Given the description of an element on the screen output the (x, y) to click on. 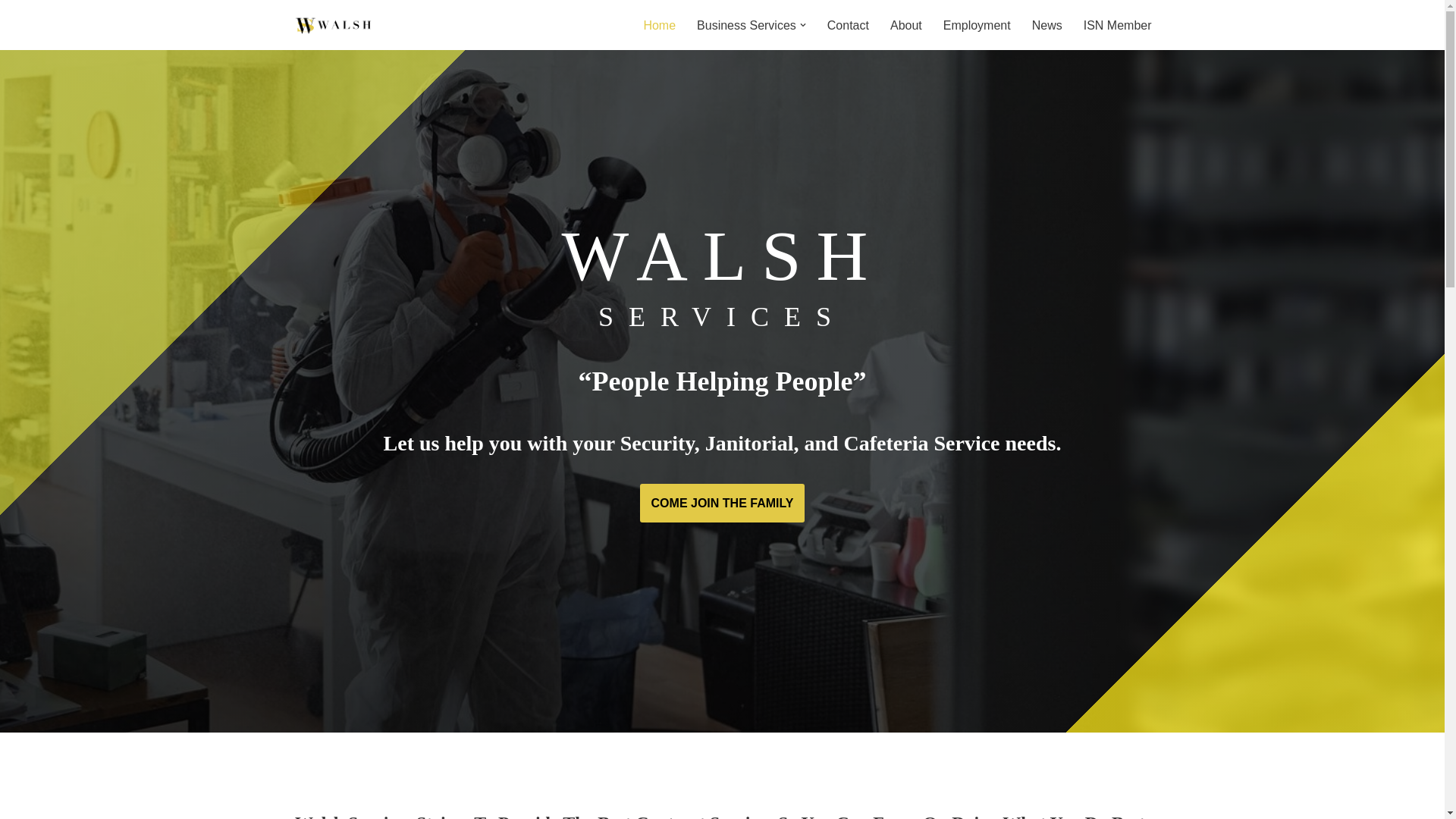
ISN Member (1117, 25)
Employment (976, 25)
News (1047, 25)
Business Services (746, 25)
COME JOIN THE FAMILY (722, 503)
Skip to content (11, 31)
Home (659, 25)
Contact (848, 25)
About (905, 25)
